Given the description of an element on the screen output the (x, y) to click on. 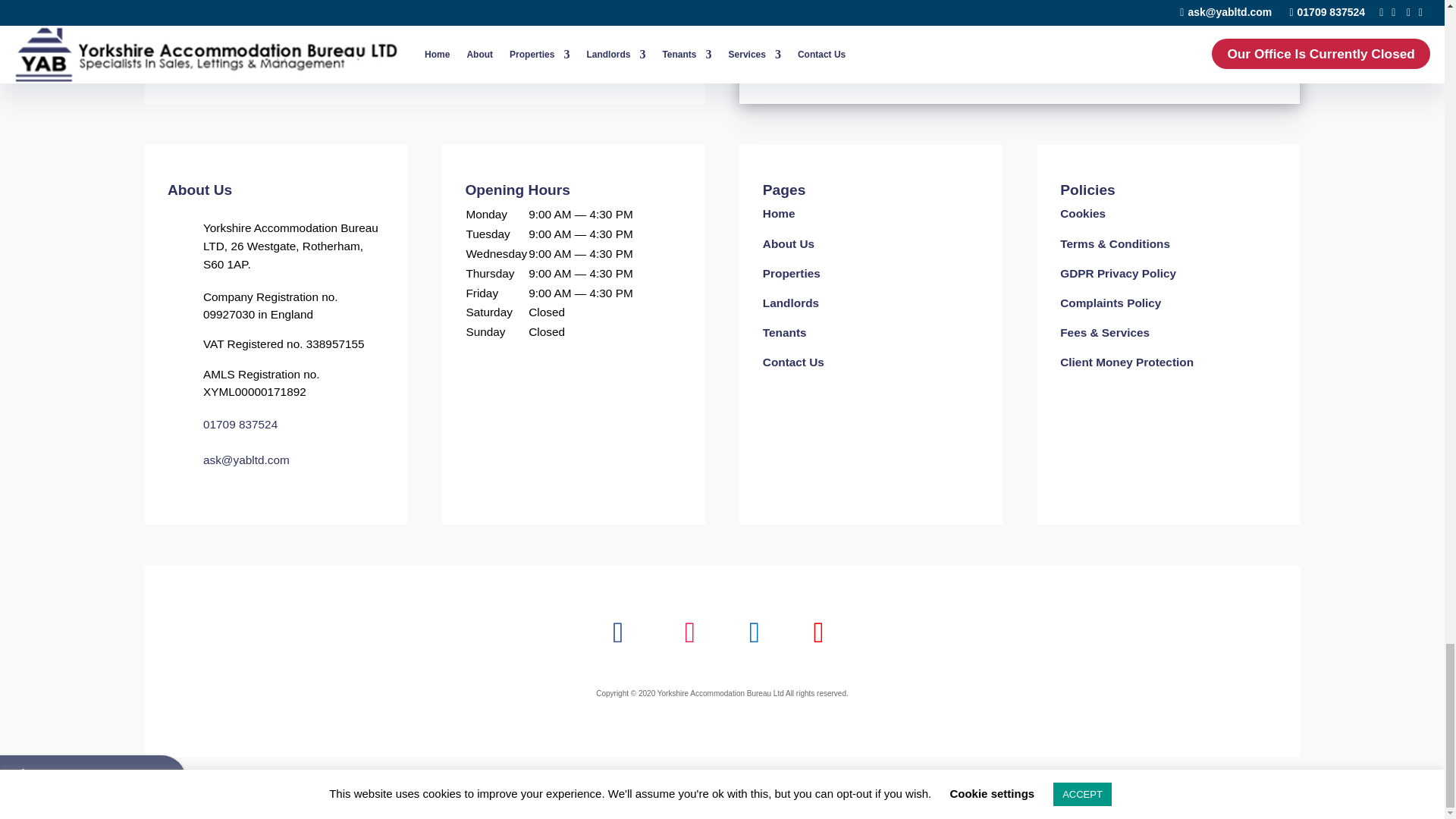
Follow on Facebook (618, 632)
Follow on Instagram (690, 632)
Follow on X (754, 632)
Follow on Youtube (818, 632)
